Given the description of an element on the screen output the (x, y) to click on. 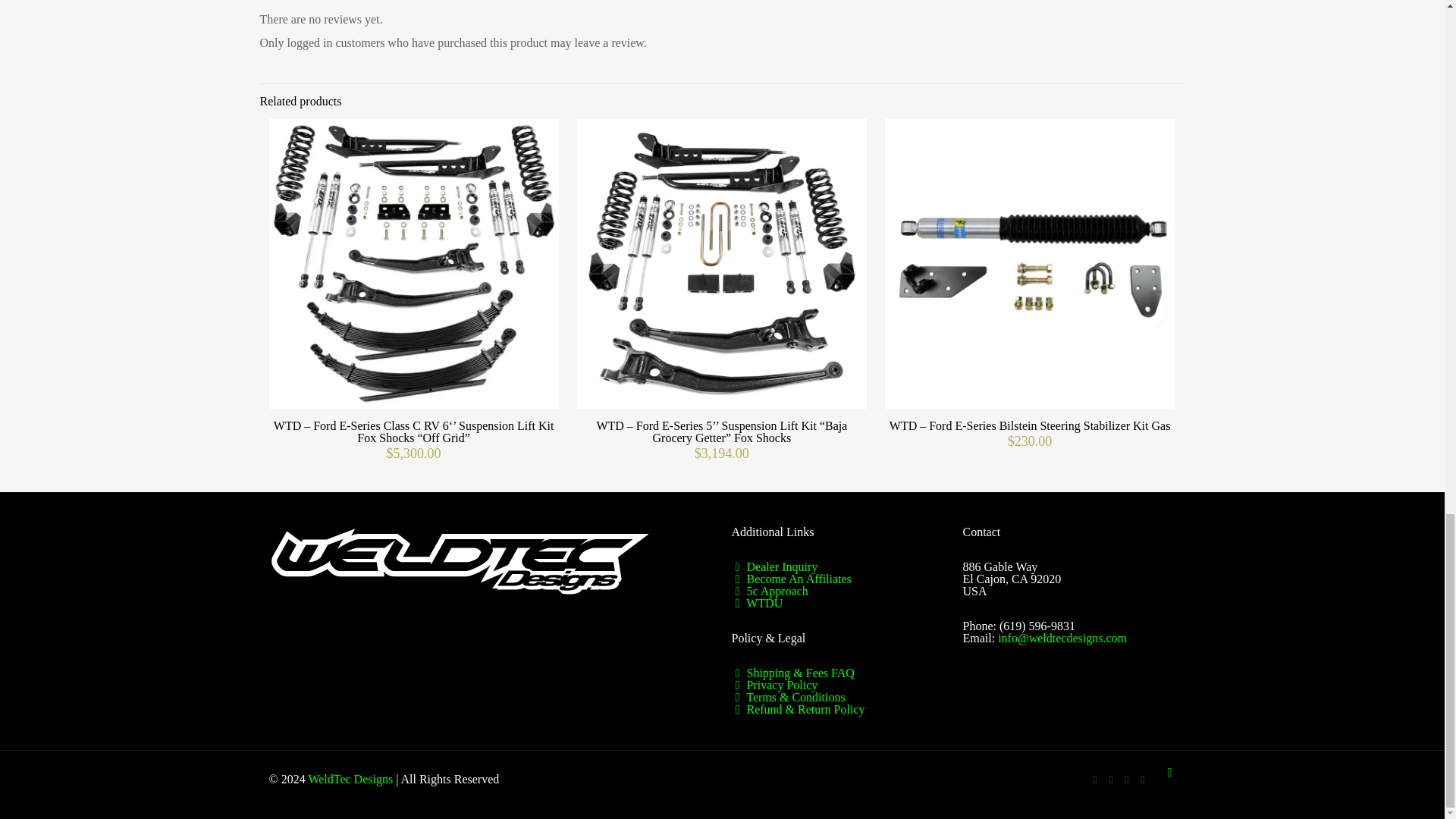
Facebook (1094, 779)
YouTube (1110, 779)
Instagram (1142, 779)
Pinterest (1126, 779)
